Given the description of an element on the screen output the (x, y) to click on. 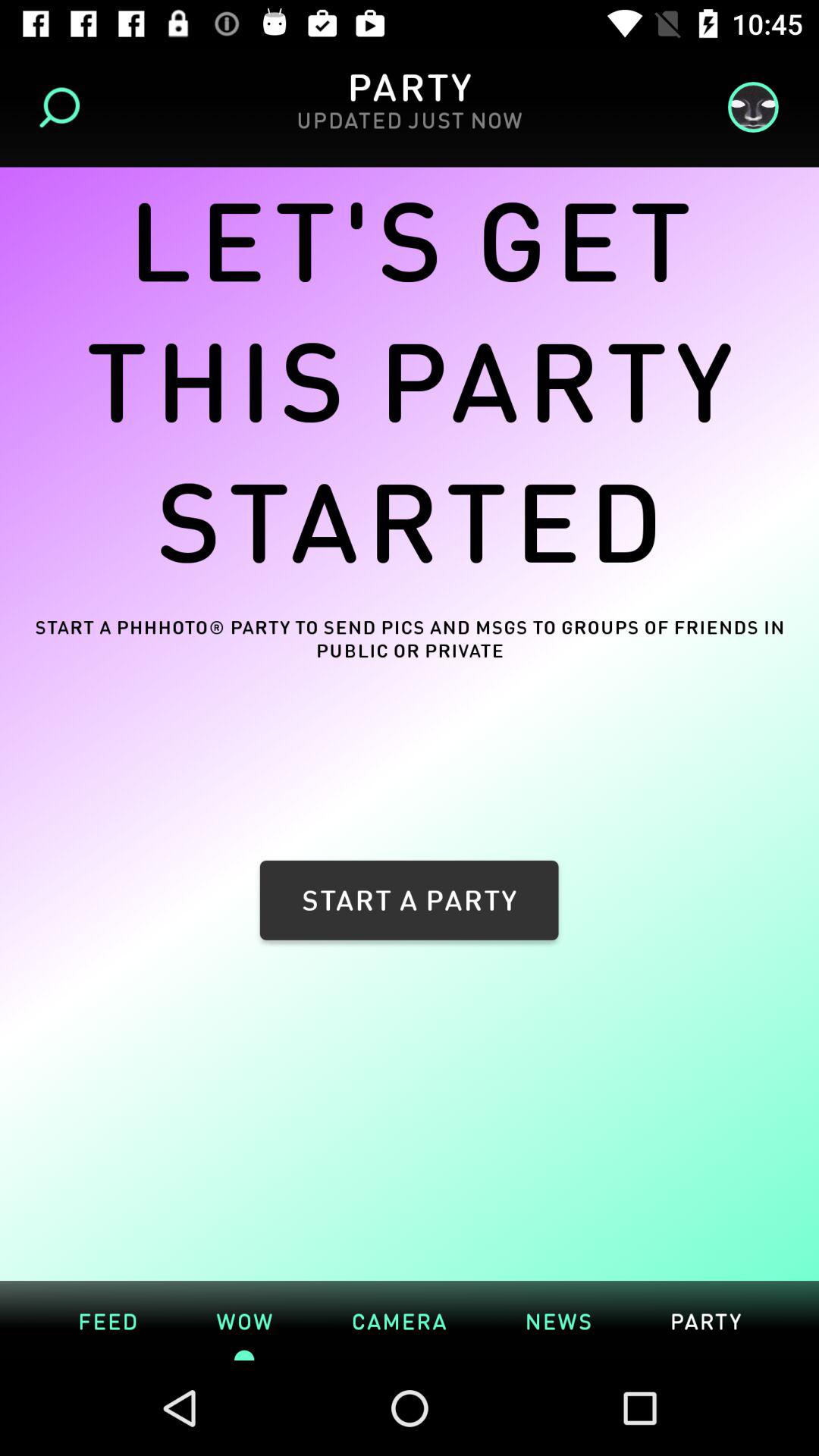
turn on the news item (558, 1320)
